Given the description of an element on the screen output the (x, y) to click on. 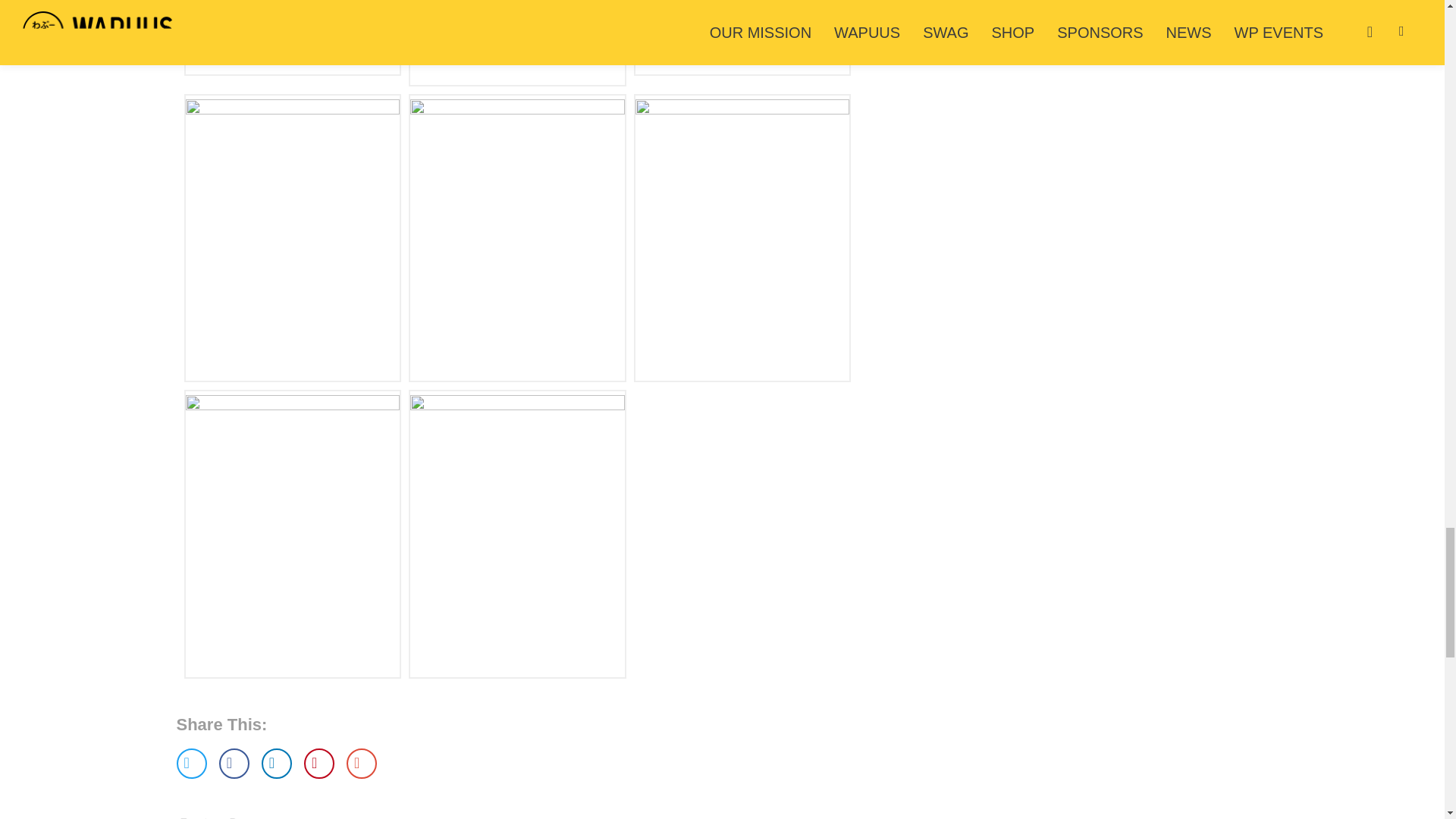
Click to share on LinkedIn (277, 763)
Click to share on Twitter (191, 763)
Click to share on Pinterest (319, 763)
Click to share on Facebook (233, 763)
